Given the description of an element on the screen output the (x, y) to click on. 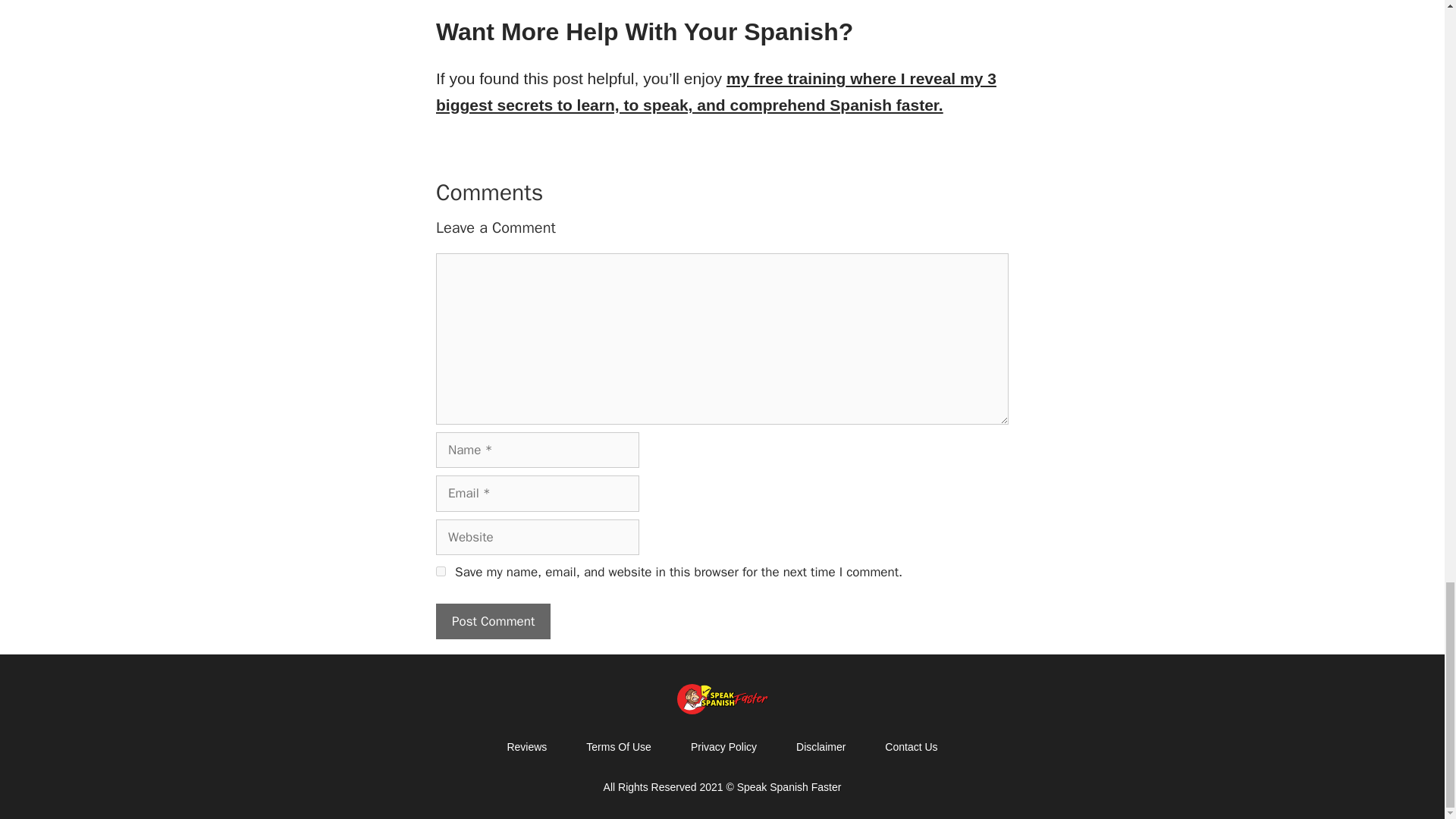
Reviews (527, 746)
Privacy Policy (723, 746)
Post Comment (492, 621)
Post Comment (492, 621)
Terms Of Use (618, 746)
yes (440, 571)
Disclaimer (820, 746)
Contact Us (910, 746)
